Given the description of an element on the screen output the (x, y) to click on. 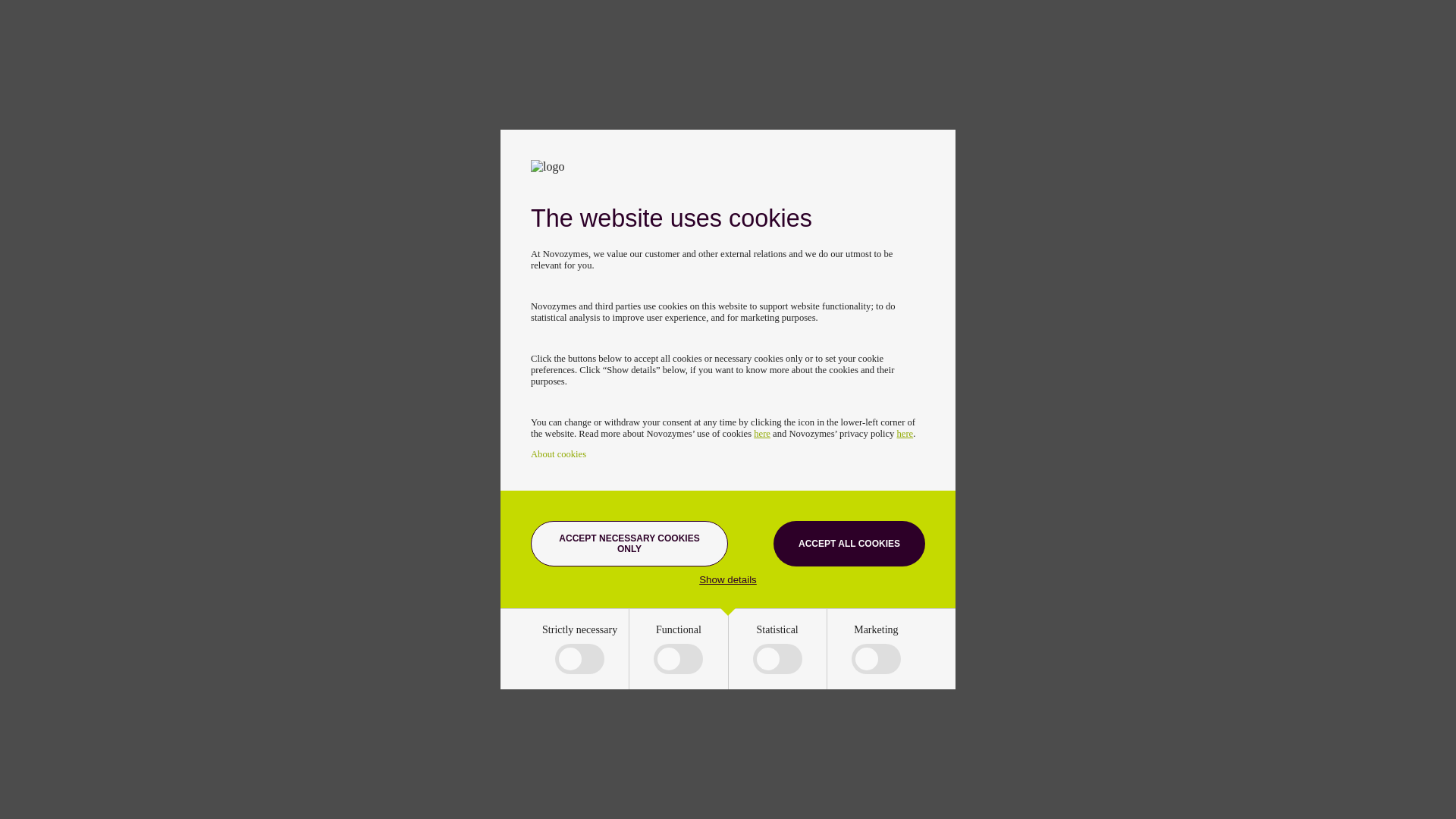
here (905, 433)
ACCEPT ALL COOKIES (848, 543)
here (762, 433)
Show details (727, 579)
ACCEPT NECESSARY COOKIES ONLY (629, 543)
About cookies (558, 453)
